Given the description of an element on the screen output the (x, y) to click on. 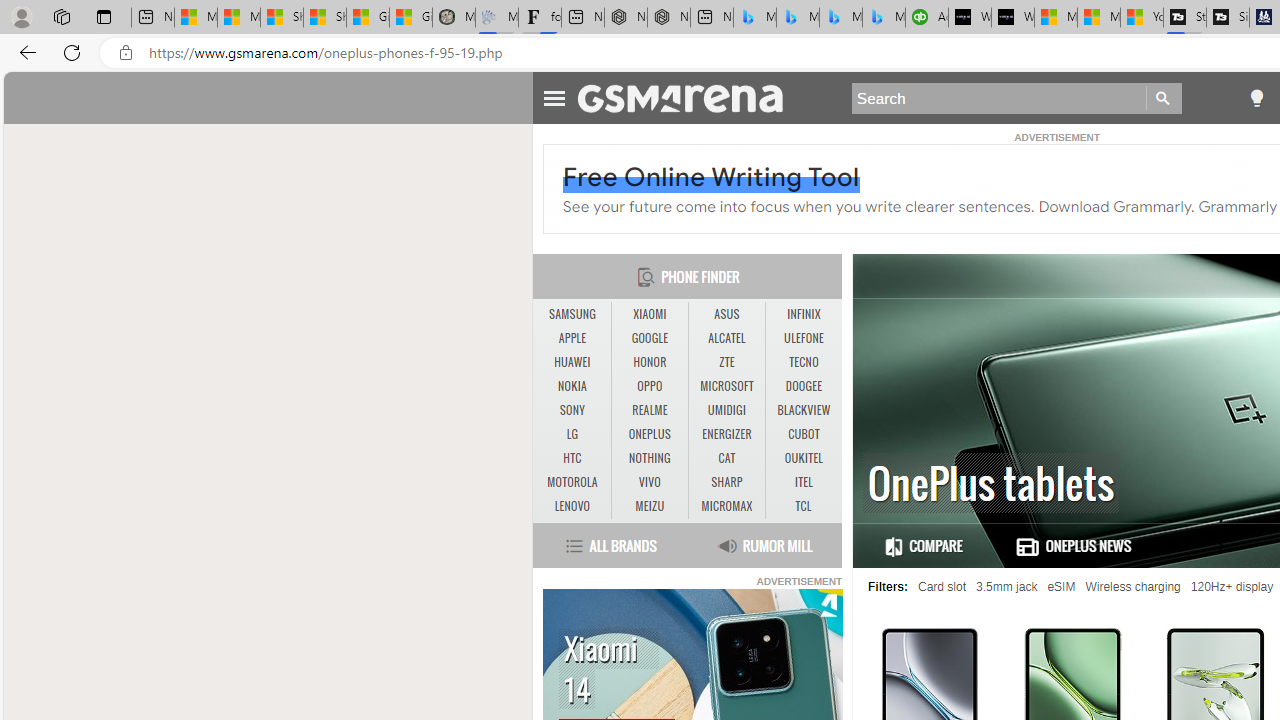
DOOGEE (803, 385)
SAMSUNG (571, 313)
eSIM (1061, 587)
CAT (726, 458)
TECNO (803, 362)
INFINIX (803, 313)
Wireless charging (1133, 587)
NOTHING (649, 458)
ALCATEL (726, 339)
NOKIA (571, 386)
